Given the description of an element on the screen output the (x, y) to click on. 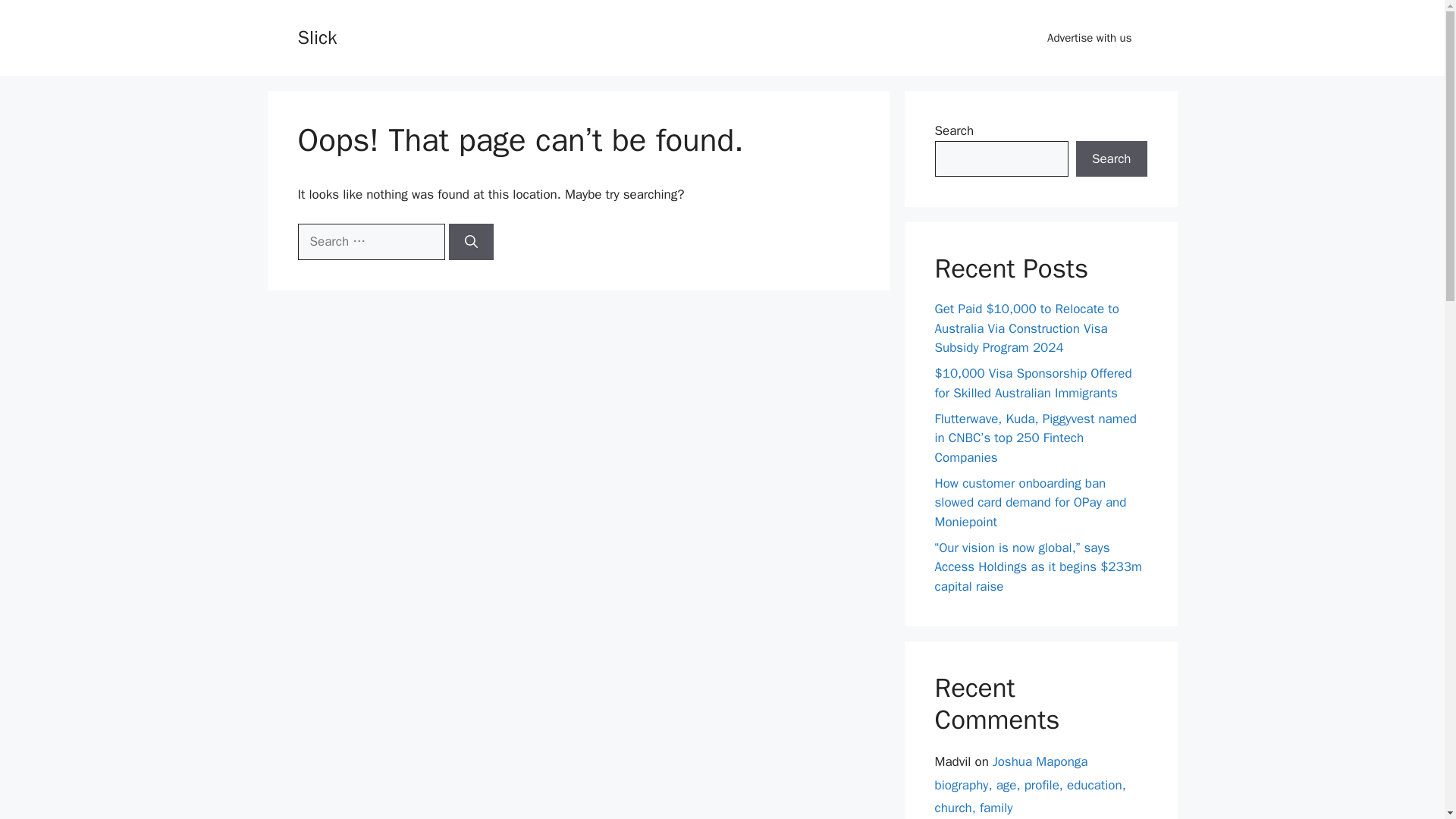
Advertise with us (1089, 37)
Search for: (370, 241)
Slick (316, 37)
Search (1111, 158)
